Given the description of an element on the screen output the (x, y) to click on. 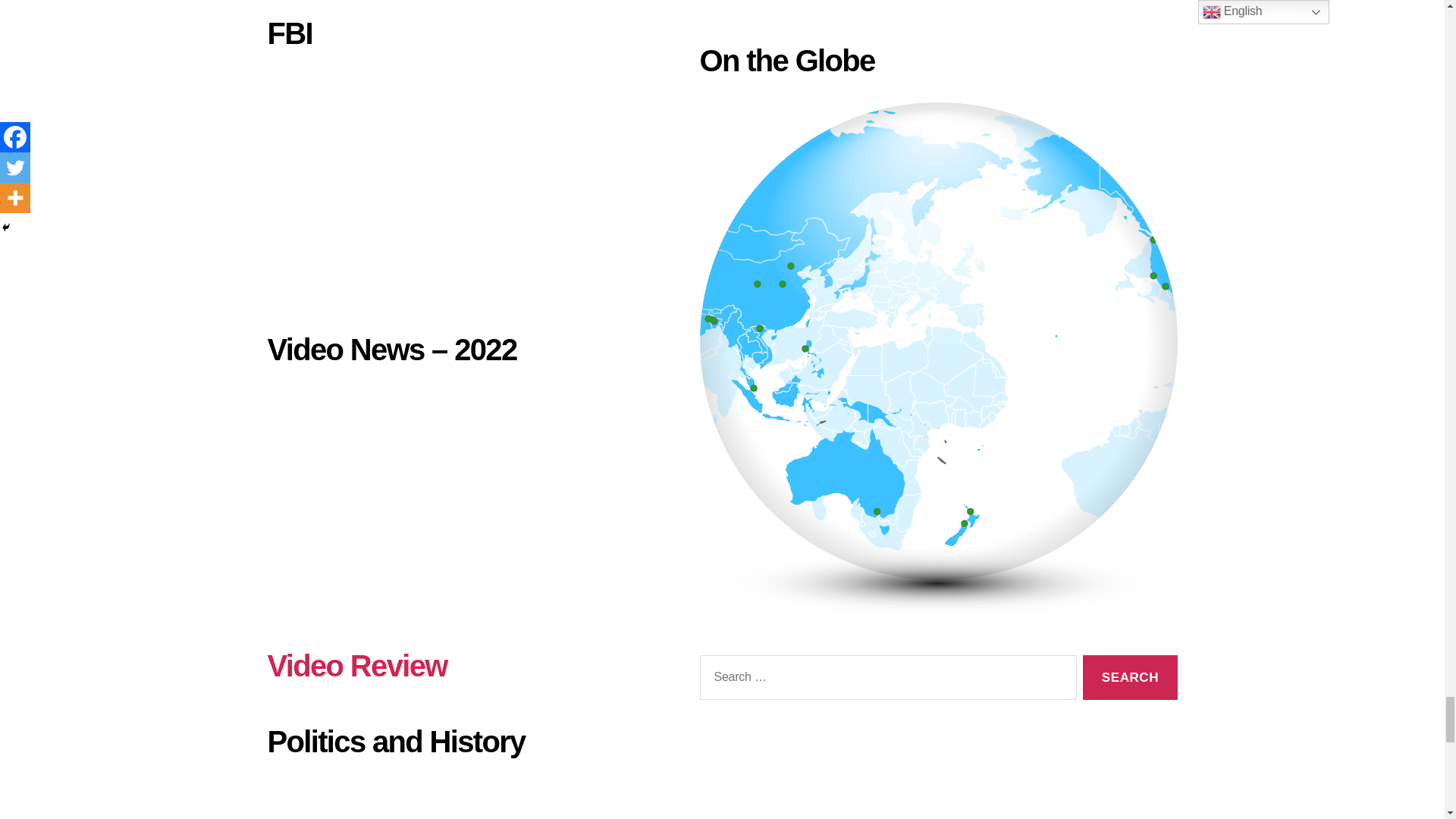
Search (1129, 677)
Search (1129, 677)
YouTube video player (459, 183)
